Given the description of an element on the screen output the (x, y) to click on. 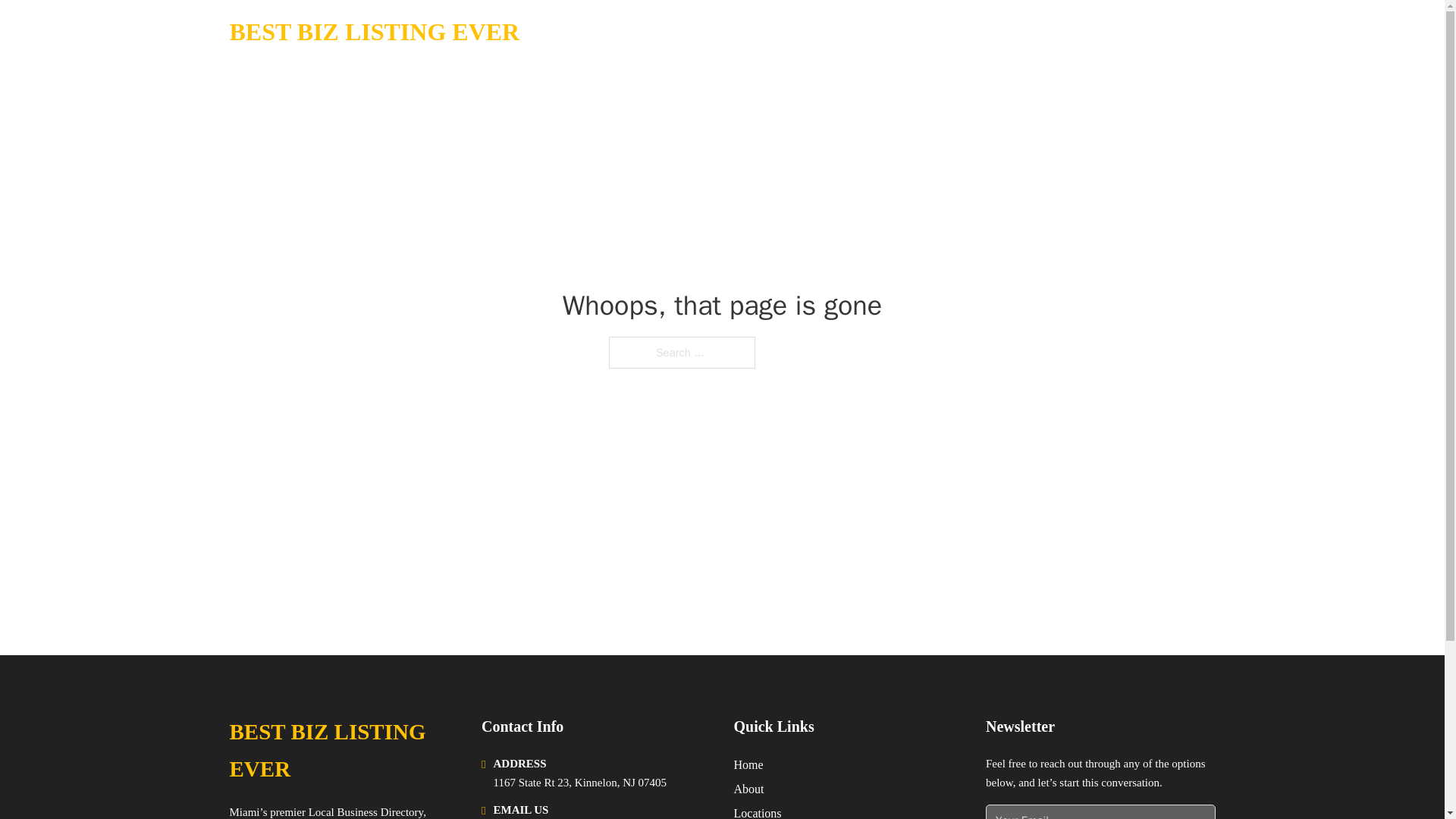
LOCATIONS (1098, 31)
Locations (757, 811)
About (748, 788)
BEST BIZ LISTING EVER (373, 31)
Home (747, 764)
HOME (1025, 31)
BEST BIZ LISTING EVER (343, 750)
